Given the description of an element on the screen output the (x, y) to click on. 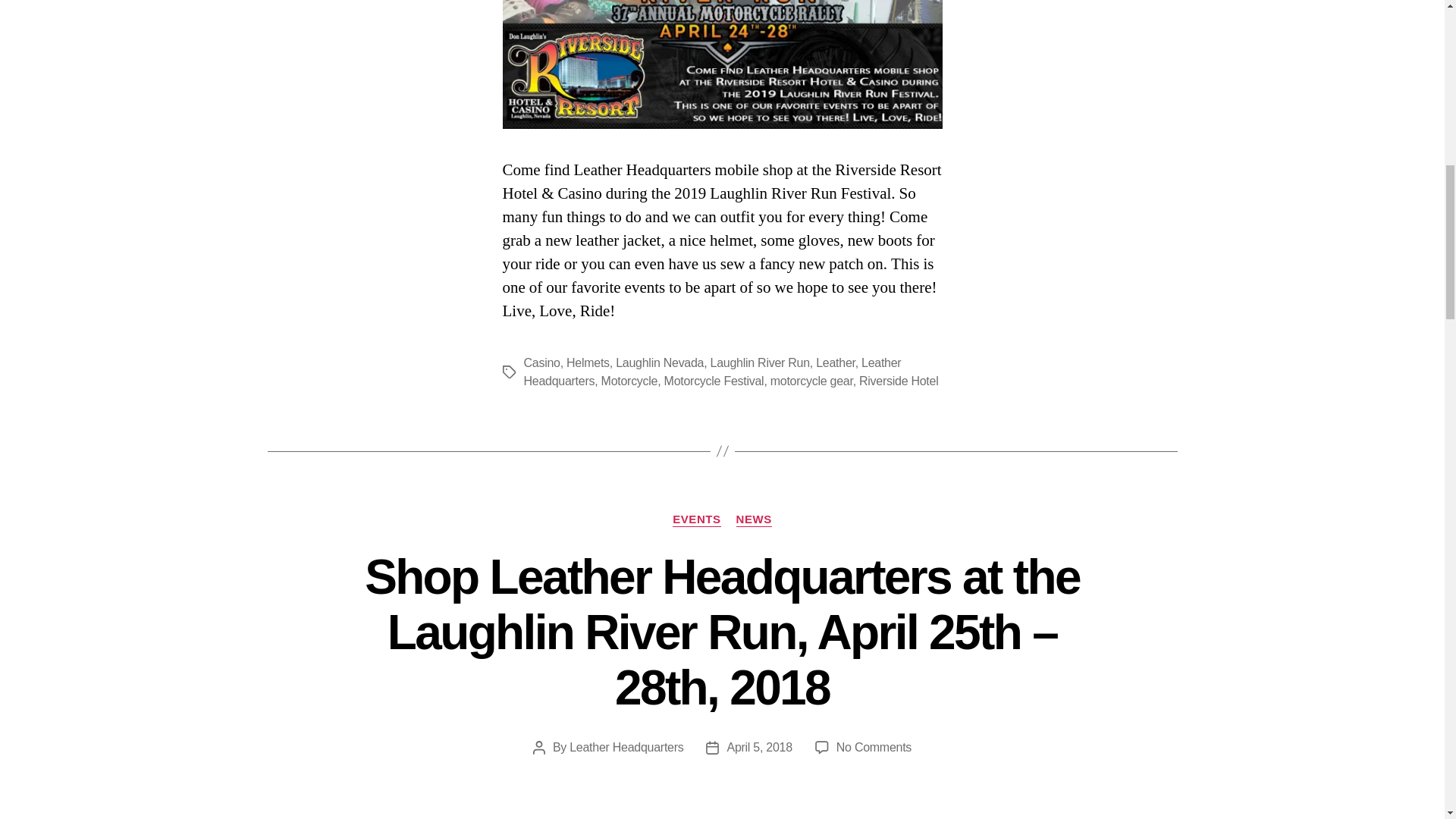
Laughlin Nevada (659, 362)
Laughlin River Run (759, 362)
Leather Headquarters (711, 371)
NEWS (753, 519)
Motorcycle Festival (713, 380)
EVENTS (696, 519)
Motorcycle (629, 380)
Helmets (588, 362)
Leather Headquarters (625, 747)
motorcycle gear (811, 380)
April 5, 2018 (759, 747)
Riverside Hotel (898, 380)
Leather (835, 362)
Casino (540, 362)
